Given the description of an element on the screen output the (x, y) to click on. 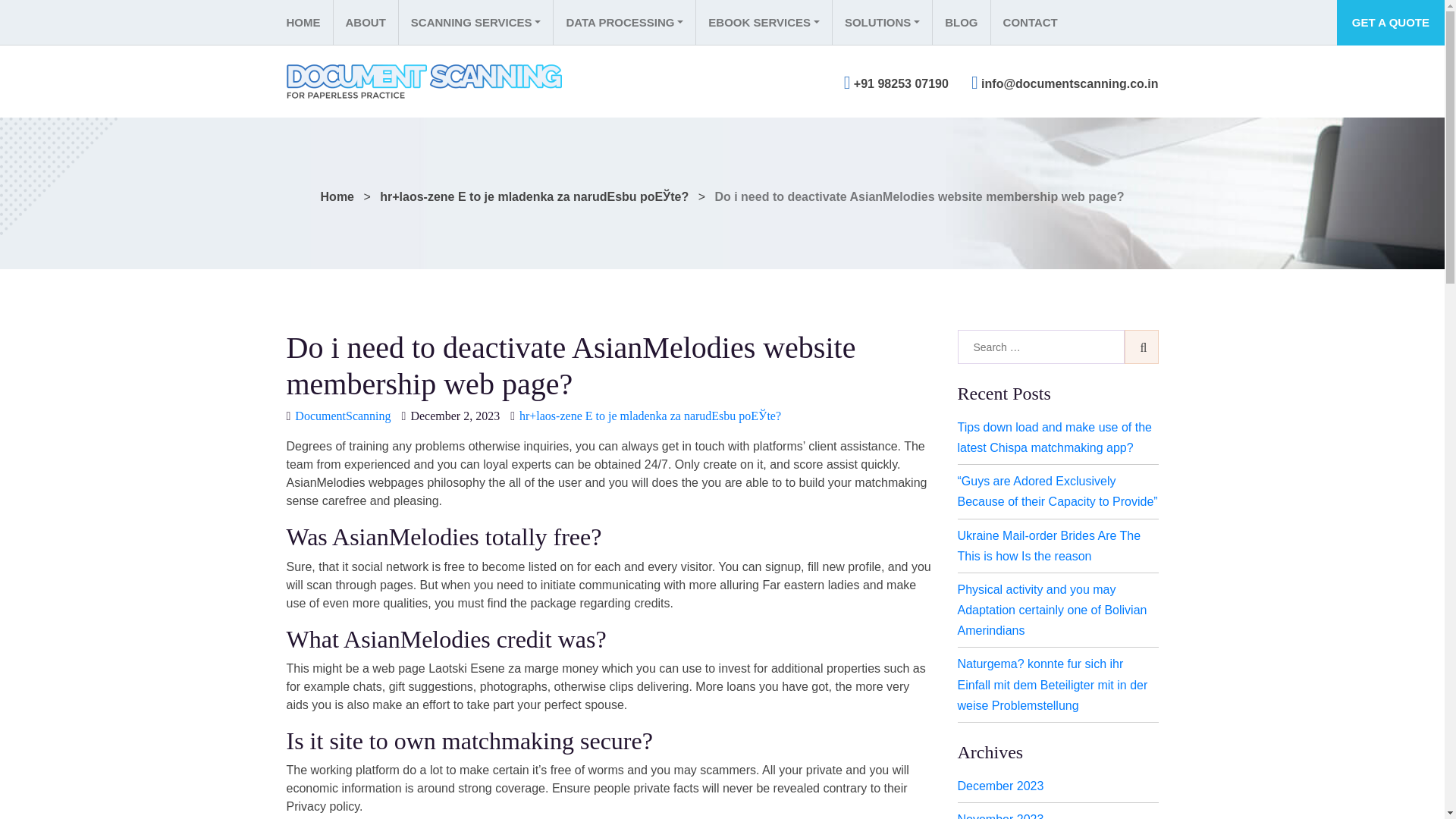
CONTACT (1030, 22)
Search (1140, 346)
ABOUT (364, 22)
Home (336, 196)
eBook Services (763, 22)
EBOOK SERVICES (763, 22)
BLOG (960, 22)
Home (309, 22)
DATA PROCESSING (624, 22)
HOME (309, 22)
About (364, 22)
SCANNING SERVICES (475, 22)
Data Processing (624, 22)
SOLUTIONS (881, 22)
Search (1140, 346)
